Given the description of an element on the screen output the (x, y) to click on. 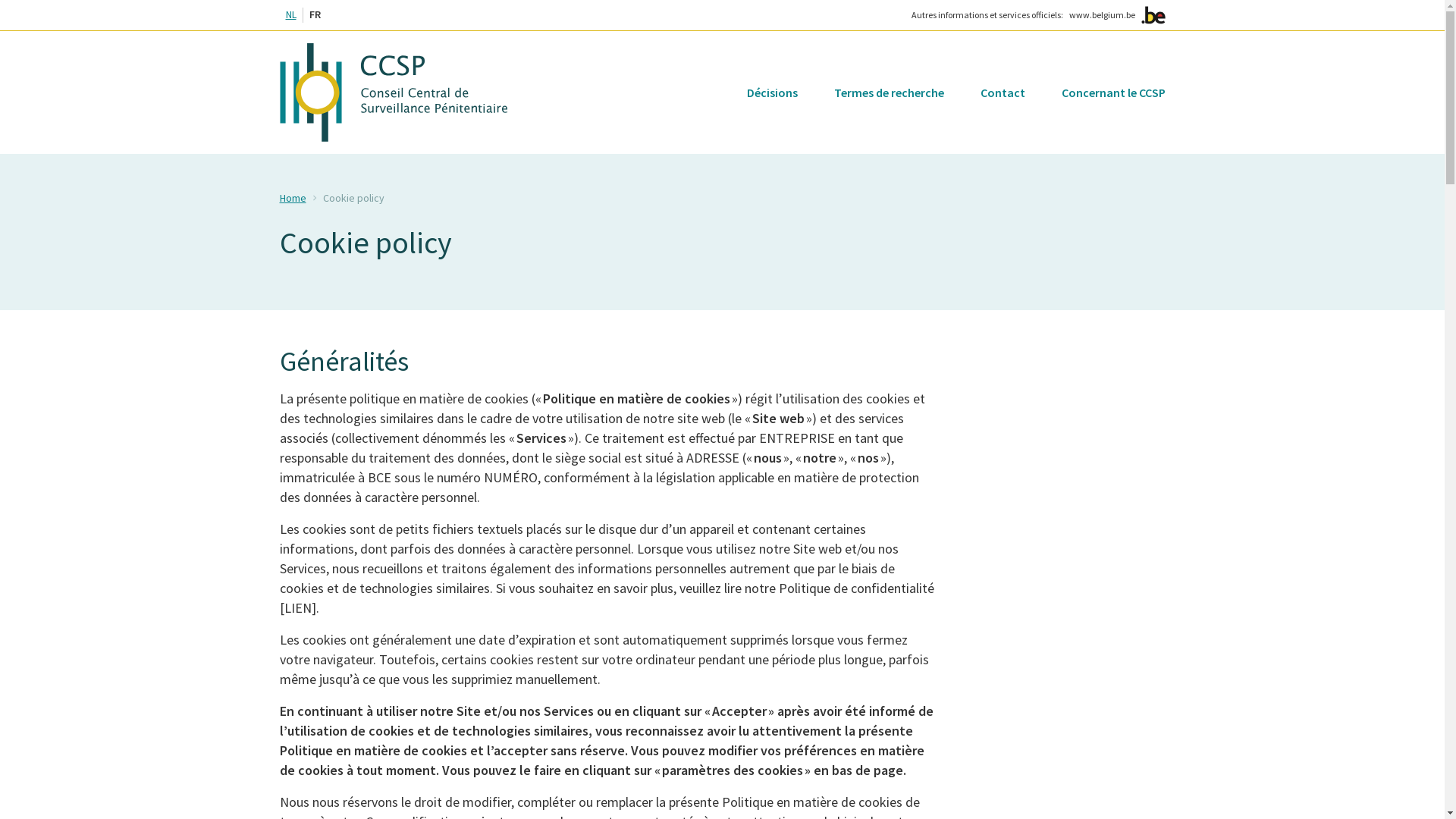
Concernant le CCSP Element type: text (1113, 92)
Termes de recherche Element type: text (889, 92)
Home Element type: text (292, 197)
Contact Element type: text (1001, 92)
NL Element type: text (290, 14)
Cookie policy Element type: text (353, 197)
FR Element type: text (314, 14)
www.belgium.be Element type: text (1102, 15)
